Given the description of an element on the screen output the (x, y) to click on. 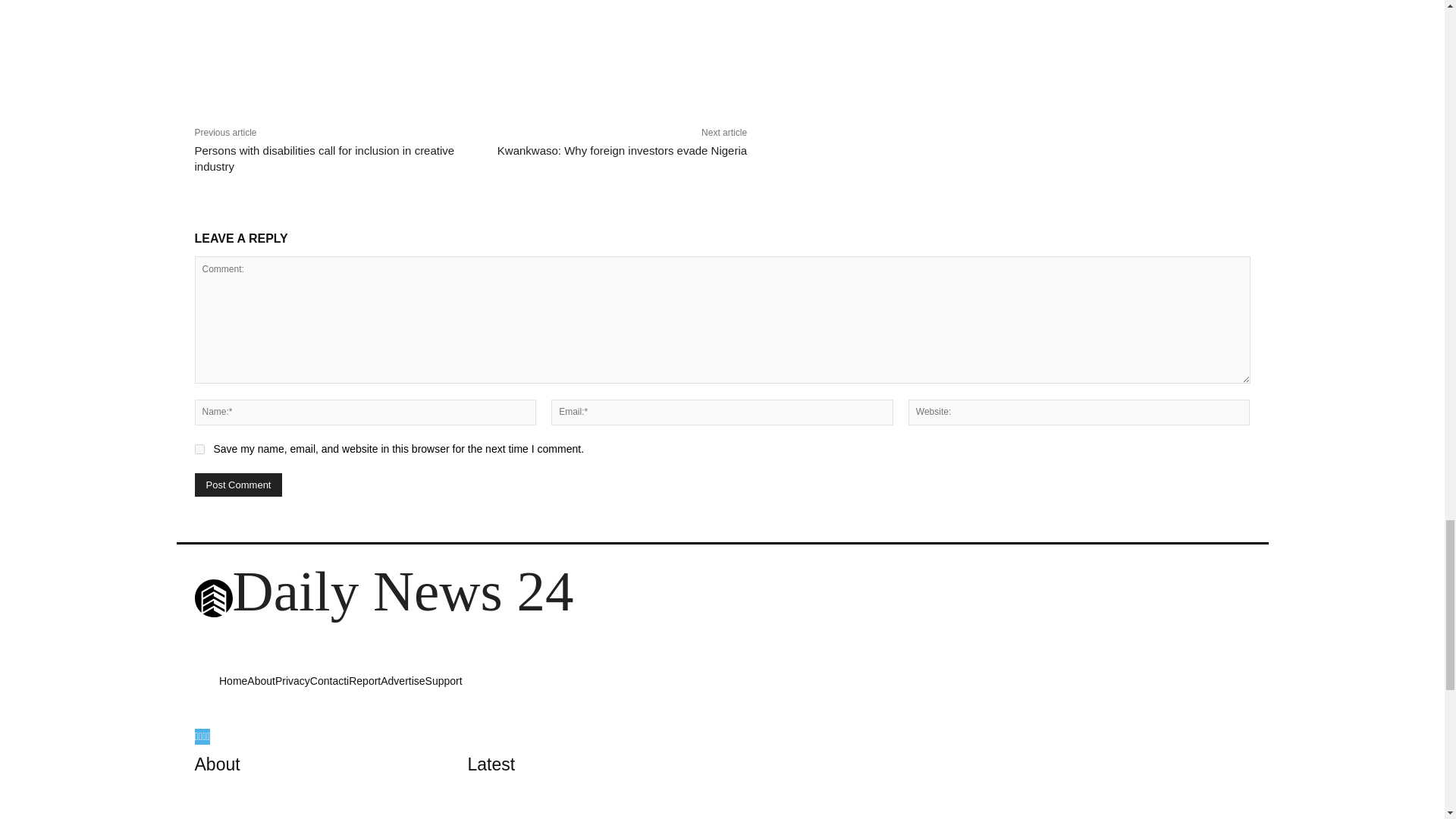
yes (198, 449)
Post Comment (237, 484)
